Given the description of an element on the screen output the (x, y) to click on. 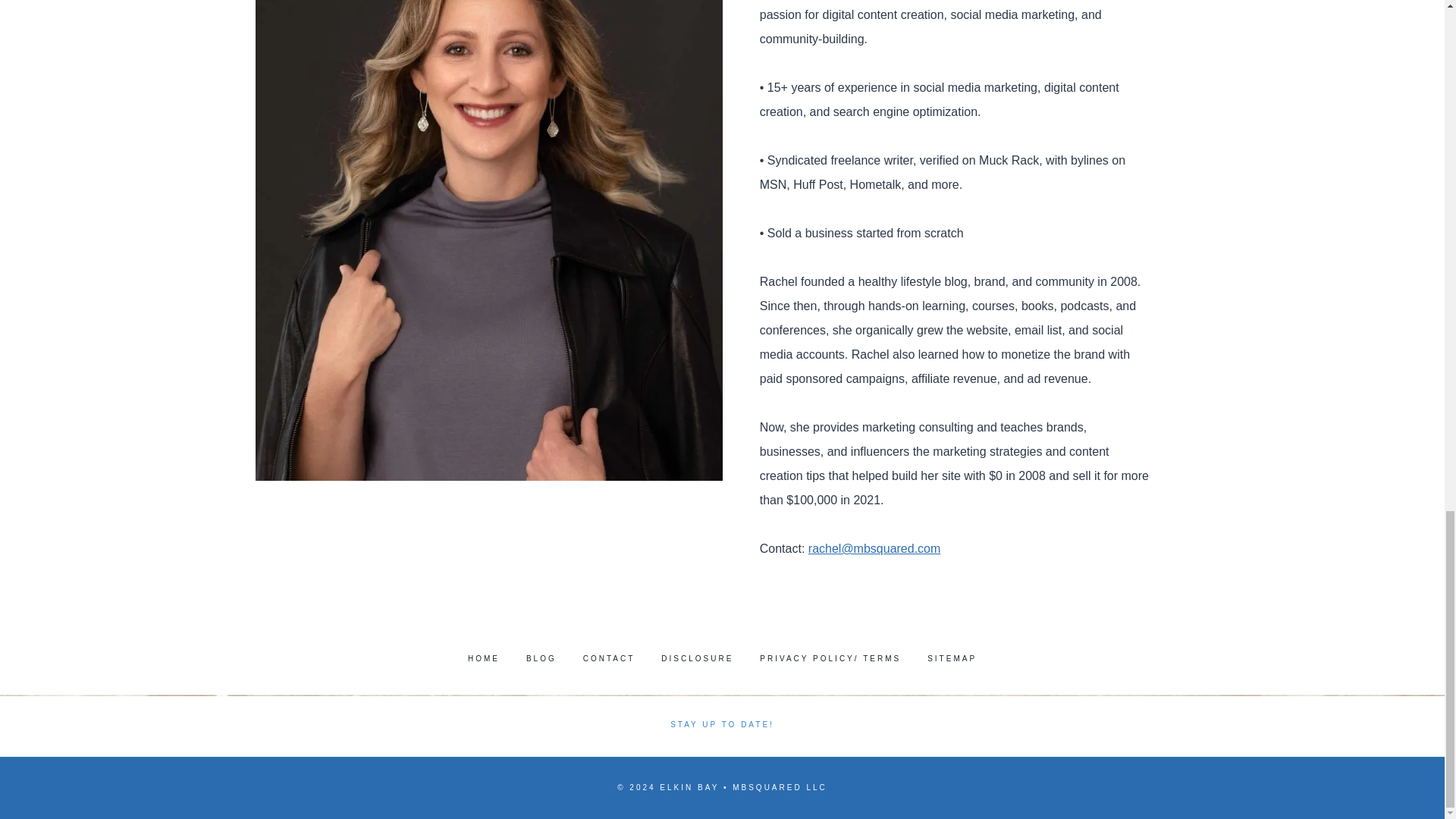
BLOG (540, 658)
DISCLOSURE (696, 658)
HOME (483, 658)
SITEMAP (952, 658)
CONTACT (608, 658)
